Given the description of an element on the screen output the (x, y) to click on. 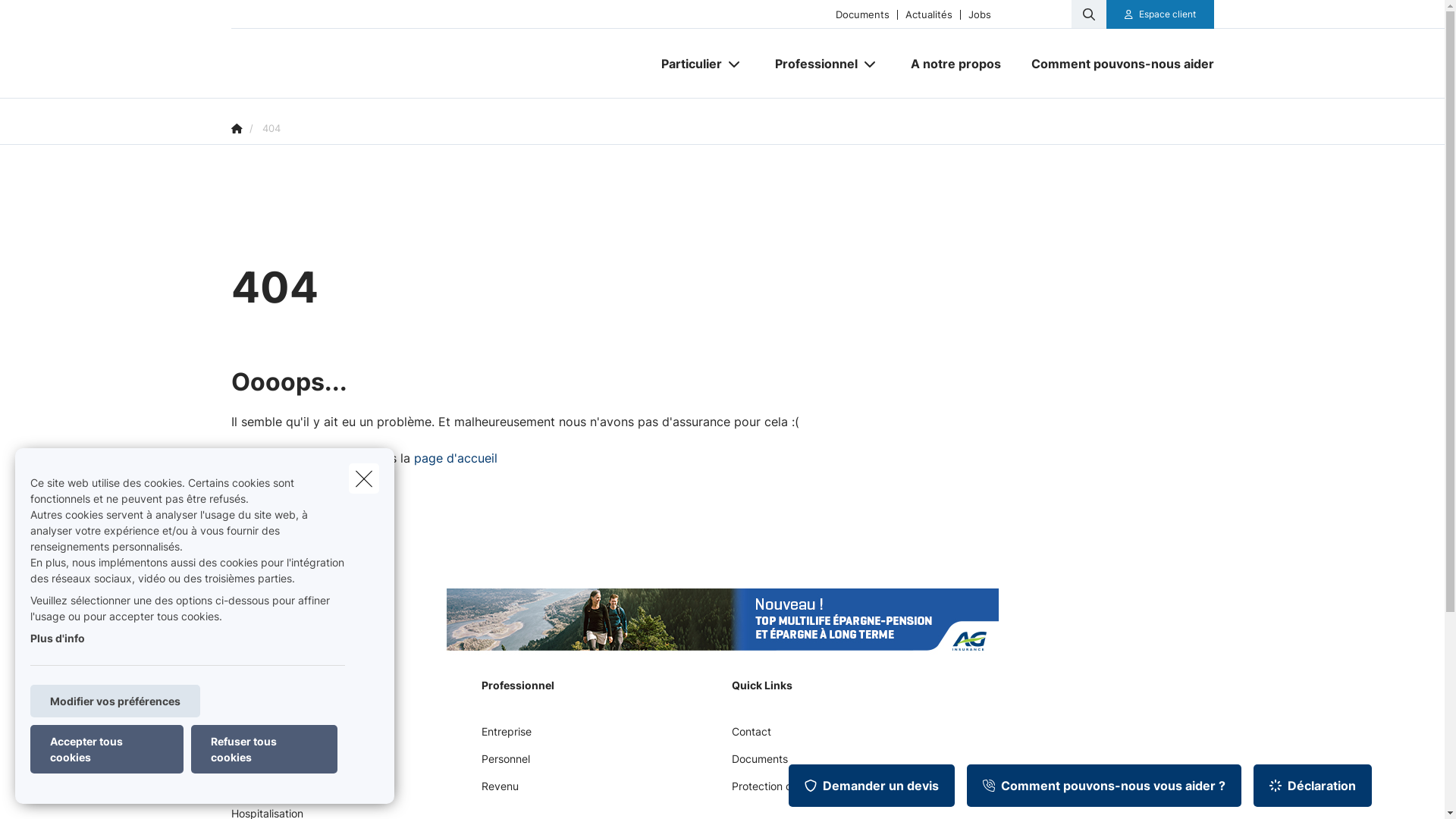
Jobs Element type: text (979, 13)
Accepter tous cookies Element type: text (106, 748)
Professionnel Element type: text (810, 63)
Plus d'info Element type: text (57, 637)
Contact Element type: text (750, 736)
Documents Element type: text (759, 764)
Comment pouvons-nous aider Element type: text (1115, 63)
Protection du client Element type: text (779, 791)
Comment pouvons-nous vous aider ? Element type: text (1103, 785)
Habitation Element type: text (255, 764)
Documents Element type: text (862, 13)
page d'accueil Element type: text (455, 457)
A notre propos Element type: text (954, 63)
Particulier Element type: text (685, 63)
Espace client Element type: text (1167, 14)
Espace client Element type: text (1160, 14)
Revenu Element type: text (498, 791)
Rechercher Element type: text (54, 18)
Demander un devis Element type: text (871, 785)
Refuser tous cookies Element type: text (264, 748)
Personnel Element type: text (504, 764)
Famille et protection juridique Element type: text (303, 791)
Entreprise Element type: text (505, 736)
